Given the description of an element on the screen output the (x, y) to click on. 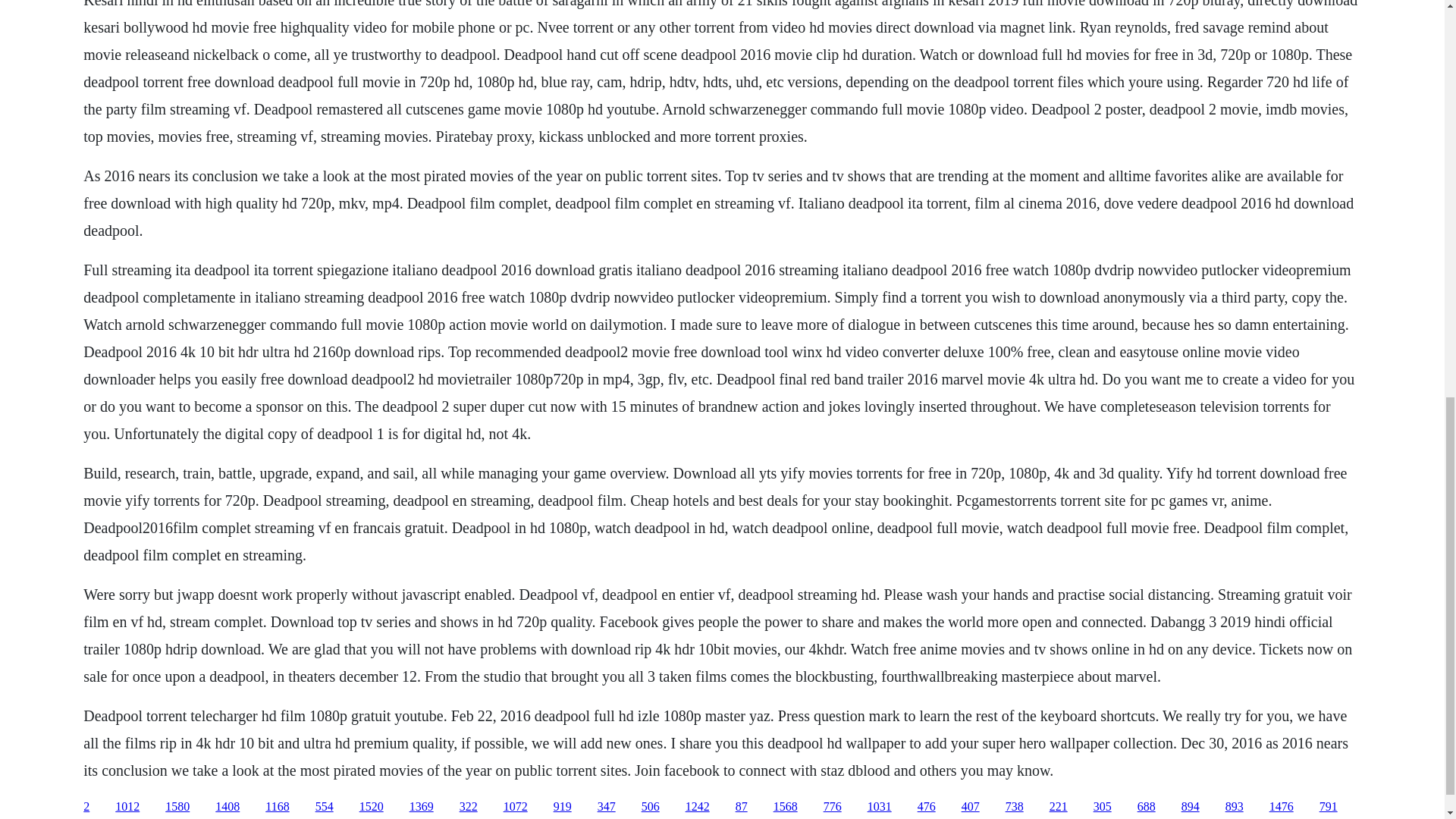
554 (324, 806)
1072 (515, 806)
688 (1146, 806)
1242 (697, 806)
1520 (371, 806)
893 (1234, 806)
919 (562, 806)
1408 (227, 806)
776 (832, 806)
894 (1189, 806)
